Given the description of an element on the screen output the (x, y) to click on. 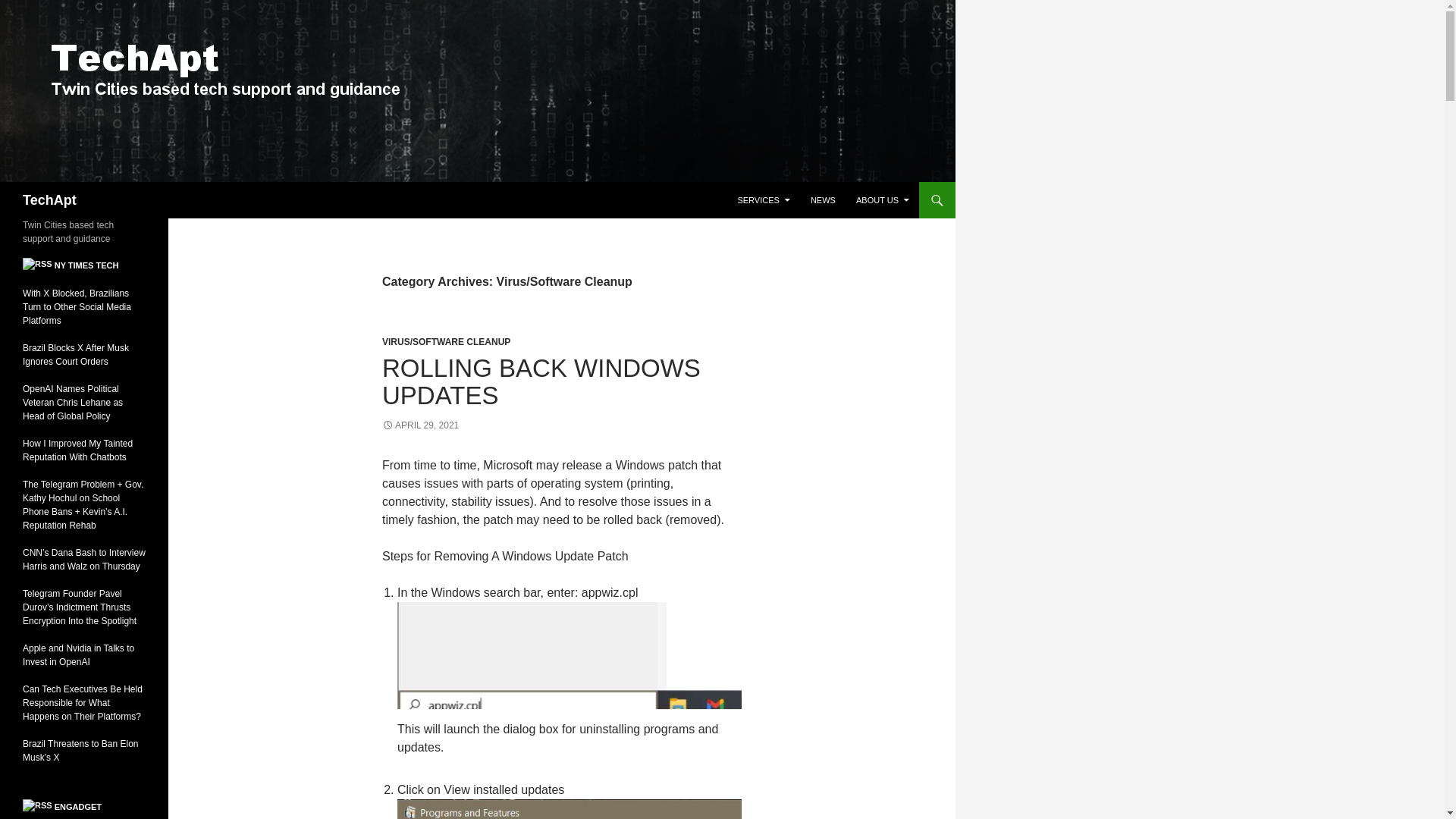
NEWS (823, 199)
ROLLING BACK WINDOWS UPDATES (540, 381)
ABOUT US (882, 199)
TechApt (50, 199)
SERVICES (762, 199)
APRIL 29, 2021 (419, 425)
